Given the description of an element on the screen output the (x, y) to click on. 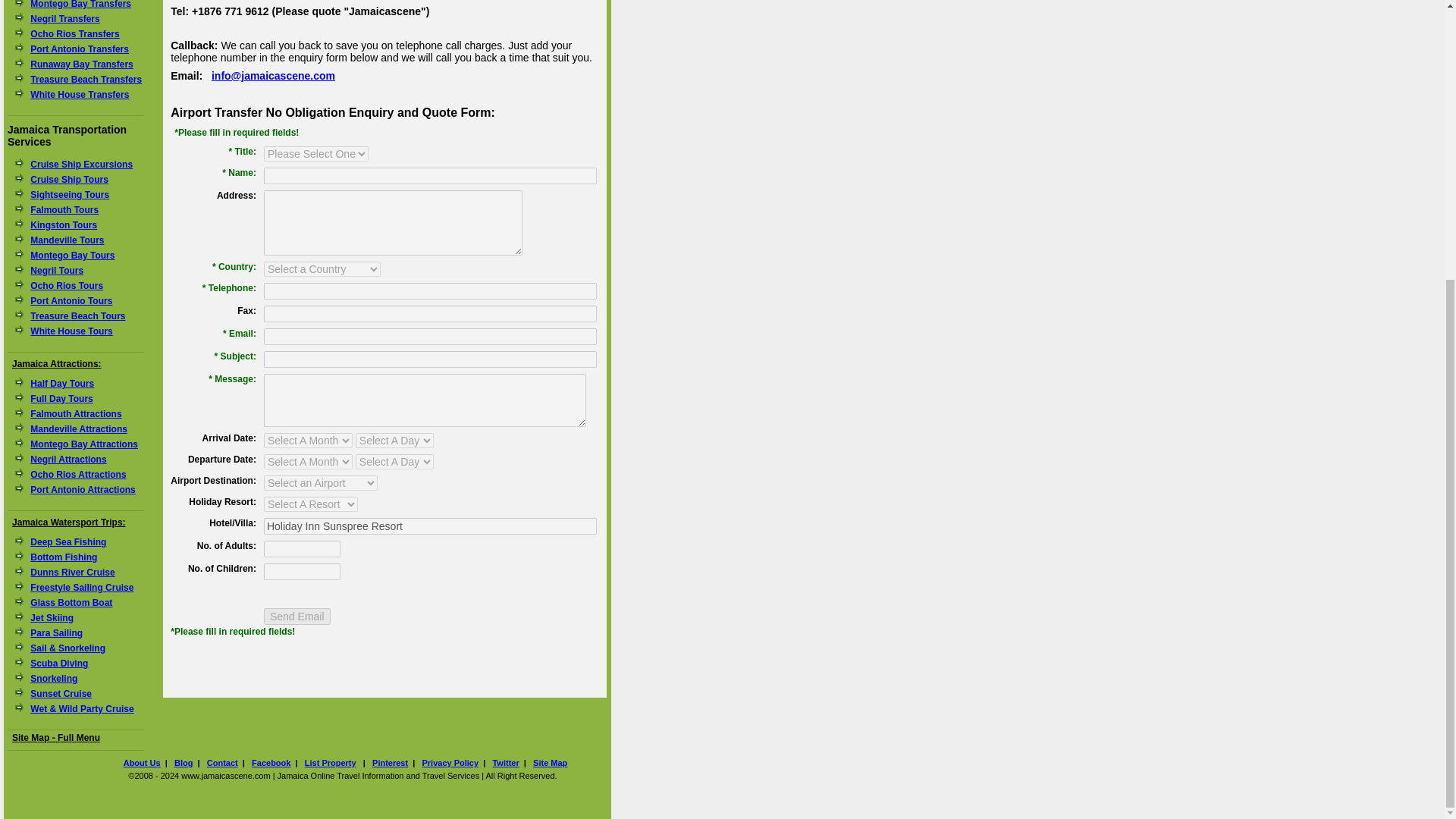
Cruise Ship Tours (68, 179)
Mandeville Tours (66, 240)
Ocho Rios Transfers (74, 33)
Montego Bay Tours (72, 255)
Holiday Inn Sunspree Resort (429, 525)
Runaway Bay Transfers (81, 63)
Negril Tours (56, 270)
Port Antonio Transfers (79, 49)
Kingston Tours (63, 225)
White House Transfers (79, 94)
Ocho Rios Tours (66, 285)
Treasure Beach Tours (77, 316)
Port Antonio Tours (71, 300)
Cruise Ship Excursions (81, 163)
Falmouth Tours (64, 209)
